Given the description of an element on the screen output the (x, y) to click on. 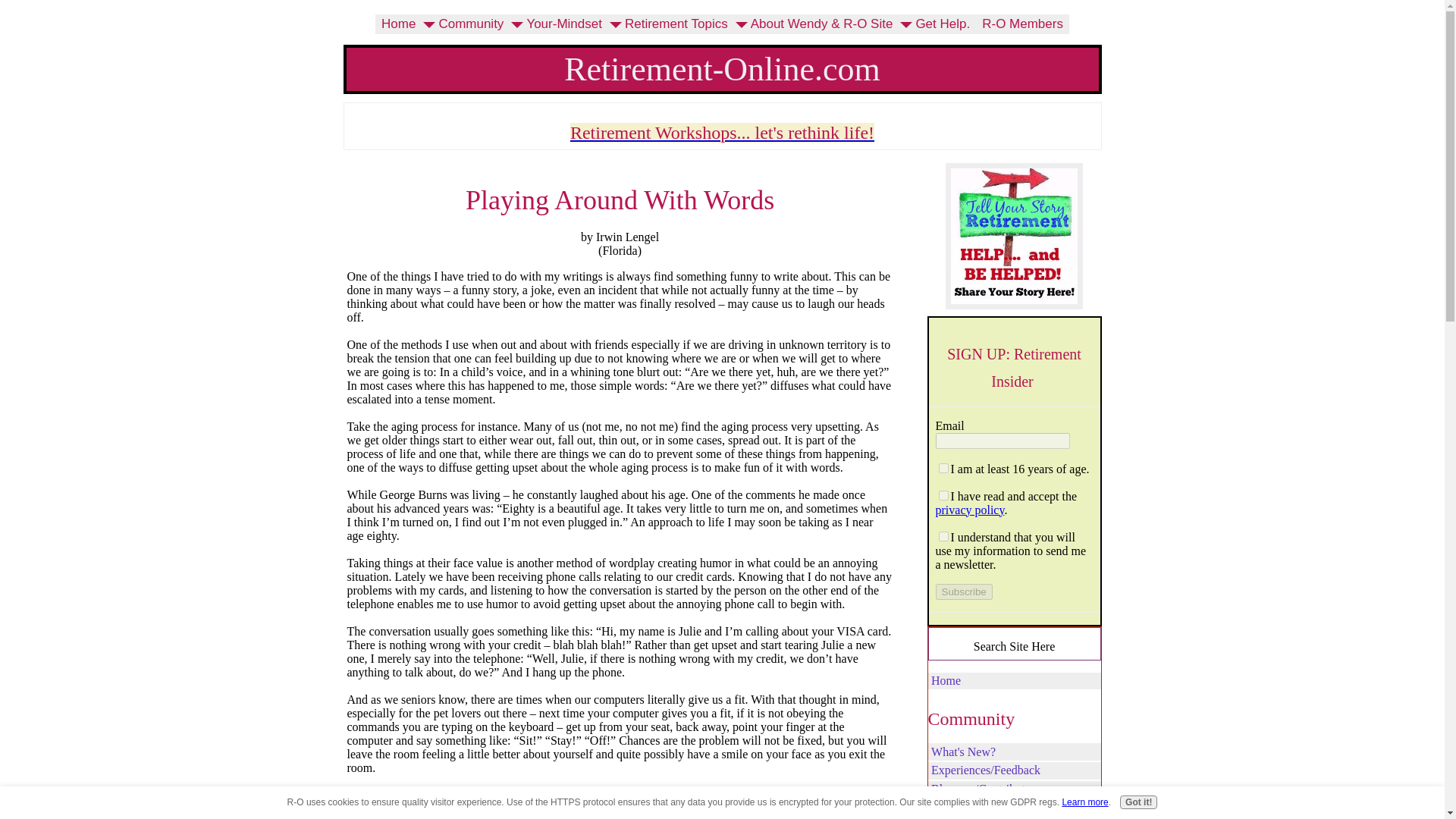
Go to Great Retirement Advice Here from Retirees  (1013, 305)
on (944, 536)
Retirement-Online.com (722, 68)
Advertisement (620, 800)
on (944, 468)
on (944, 495)
Home (398, 24)
